Given the description of an element on the screen output the (x, y) to click on. 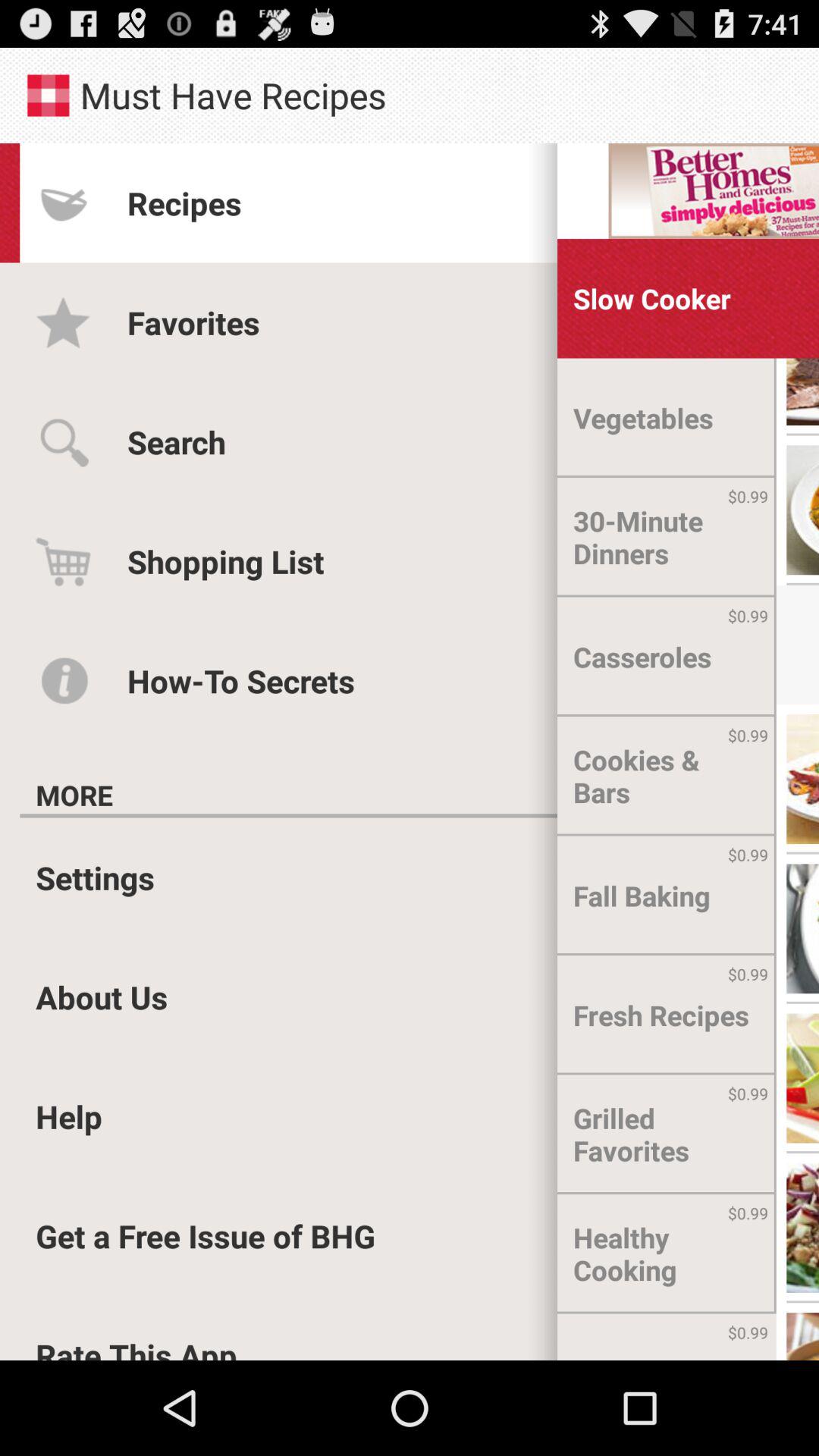
choose the app below the search app (225, 560)
